Given the description of an element on the screen output the (x, y) to click on. 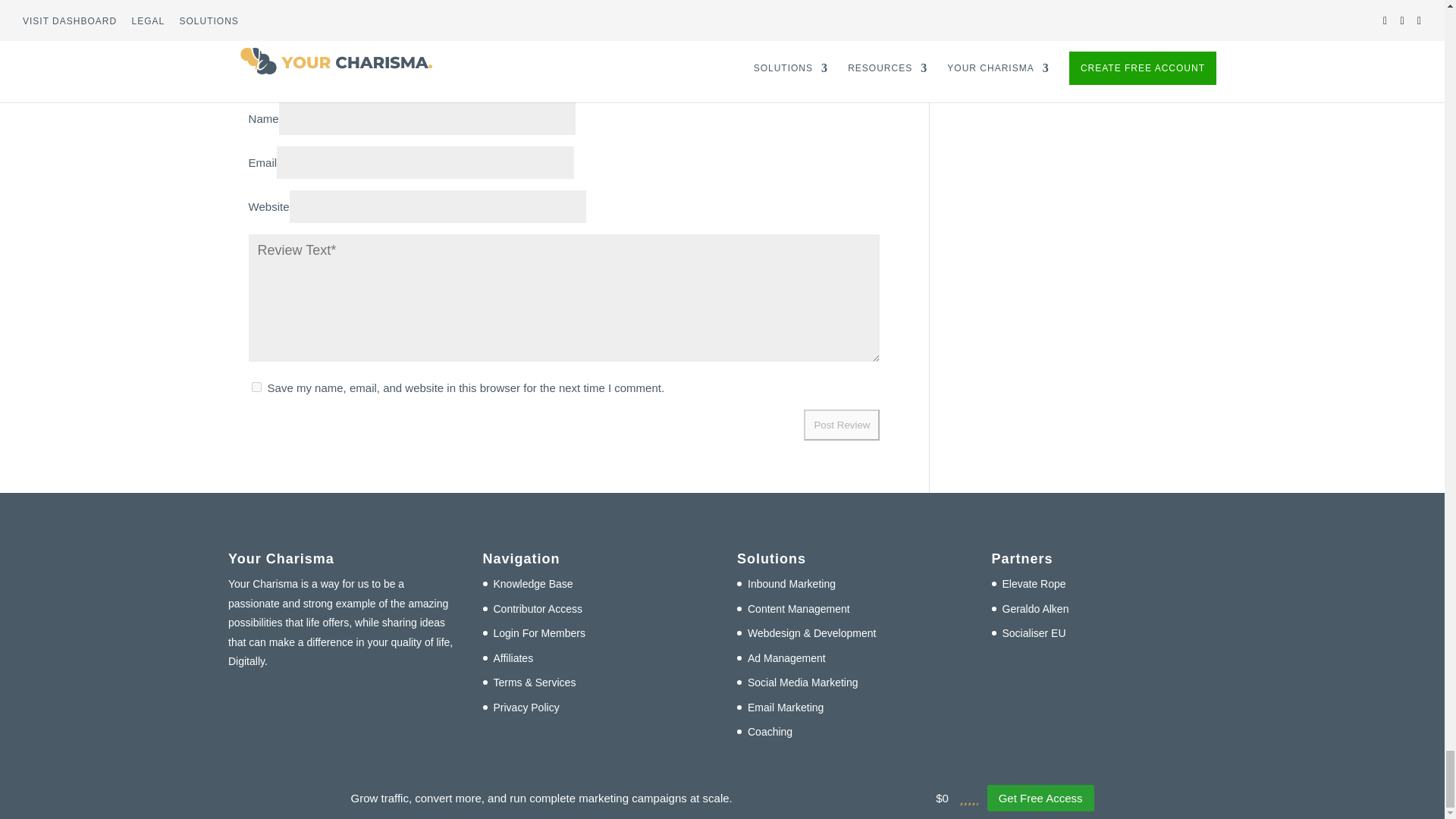
Post Review (841, 424)
yes (256, 387)
